Given the description of an element on the screen output the (x, y) to click on. 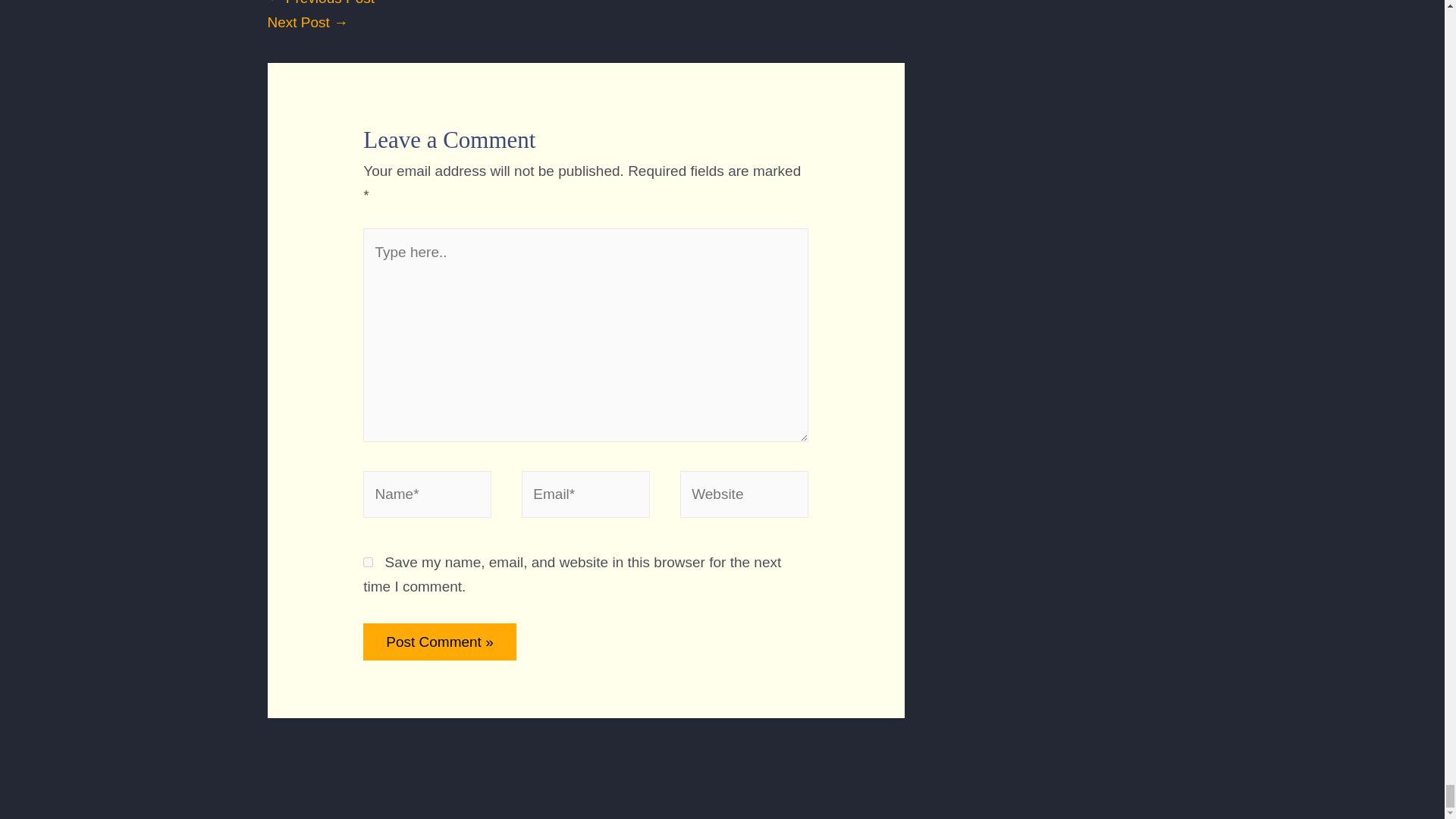
Fallout 3 Location Guide (306, 22)
Fallout 4 Location Guide (320, 2)
yes (367, 562)
